Given the description of an element on the screen output the (x, y) to click on. 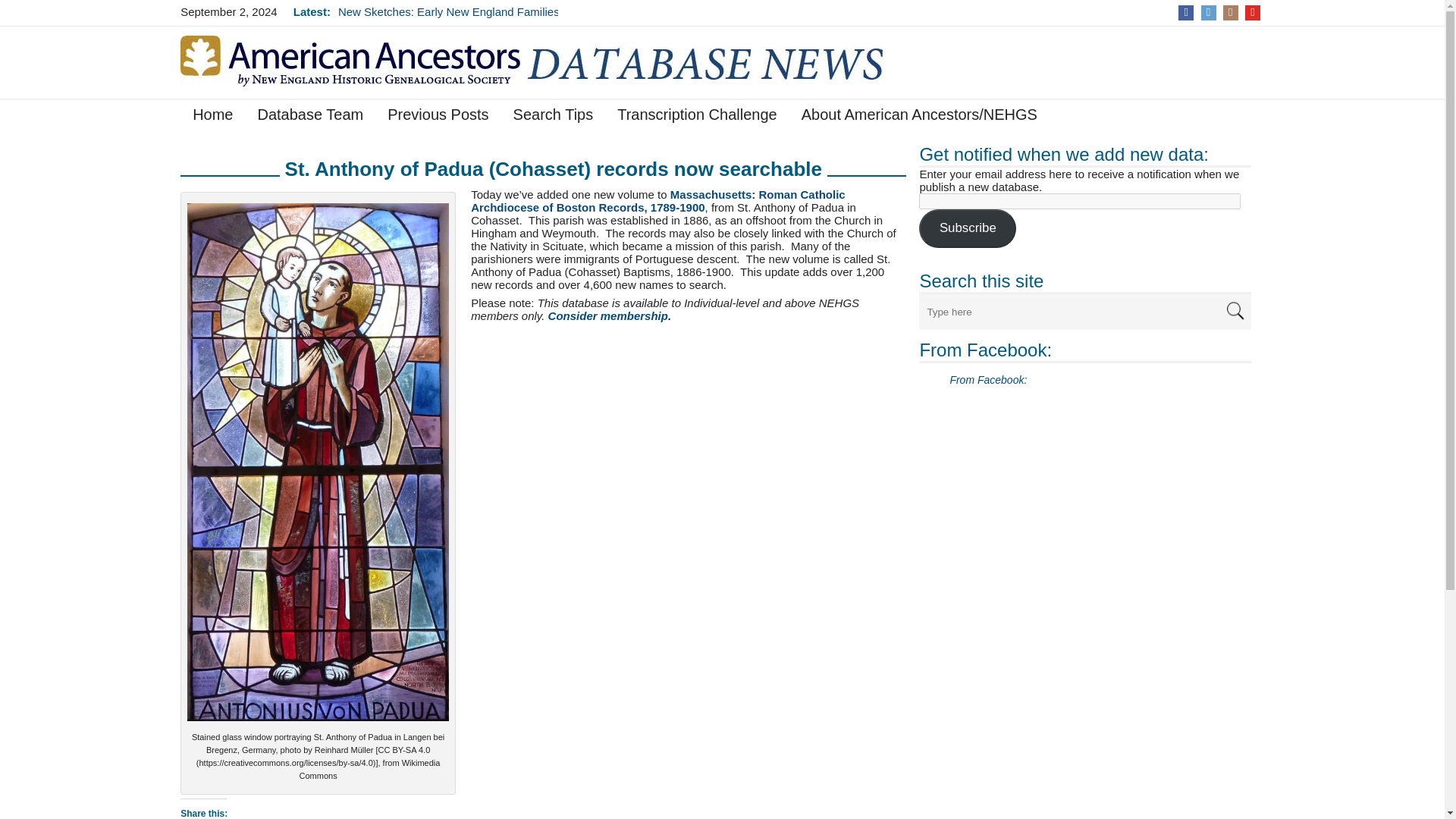
Search (1234, 309)
Search (1234, 309)
New Sketches: Early New England Families, 1641-1700 (449, 17)
American Ancestors Database News (559, 61)
Search Tips (552, 117)
Database Team (309, 117)
Previous Posts (437, 117)
Consider membership (608, 315)
Transcription Challenge (697, 117)
Subscribe (967, 228)
